Given the description of an element on the screen output the (x, y) to click on. 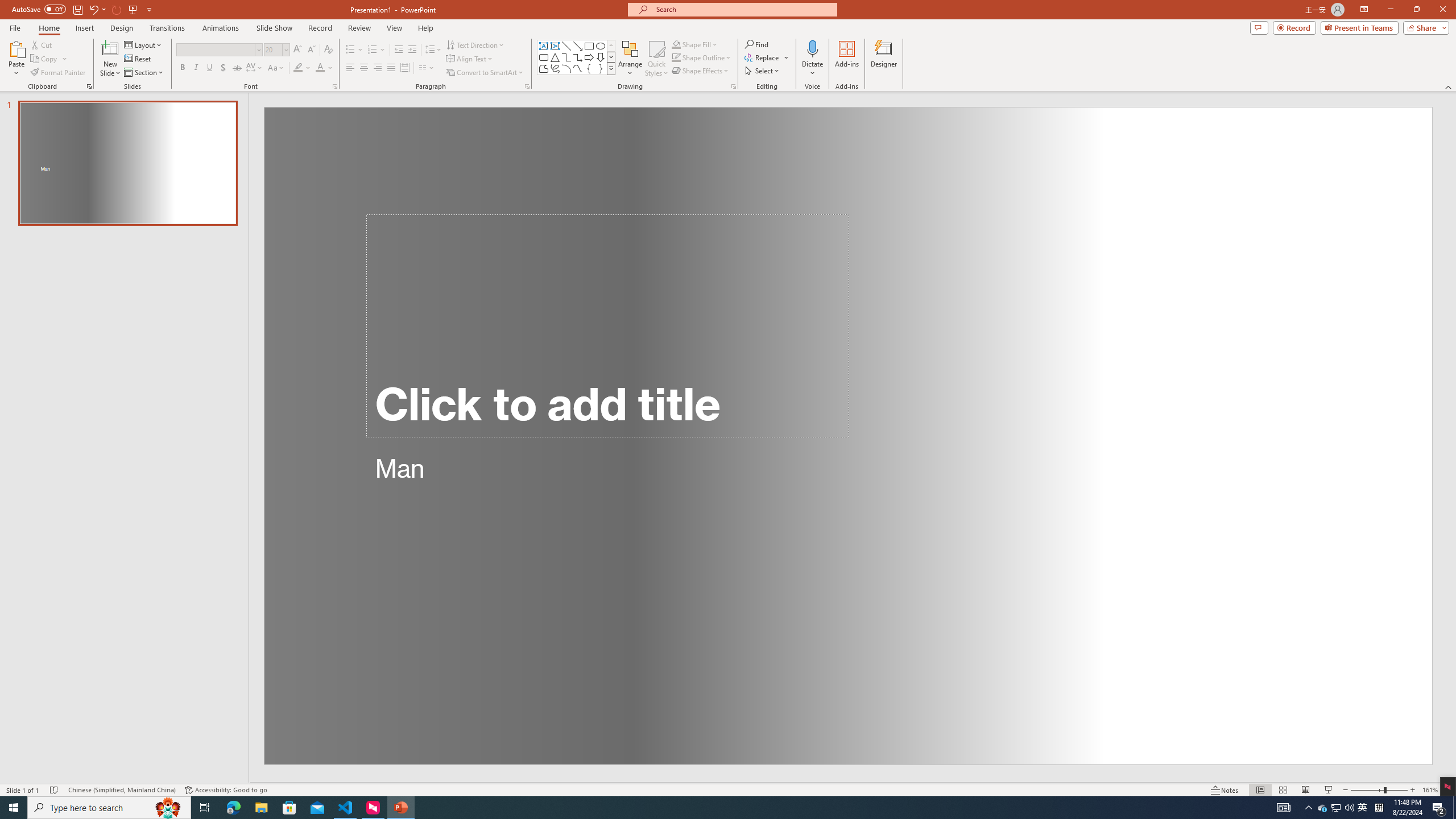
Zoom Out (1367, 790)
Increase Indent (412, 49)
Insert (83, 28)
Line Arrow (577, 45)
Character Spacing (254, 67)
Slide Show (1328, 790)
Right Brace (600, 68)
Copy (45, 58)
Paste (16, 48)
Text Highlight Color (302, 67)
New Slide (110, 48)
Slide Show (273, 28)
Shape Effects (700, 69)
Increase Font Size (297, 49)
Class: NetUIImage (610, 68)
